Given the description of an element on the screen output the (x, y) to click on. 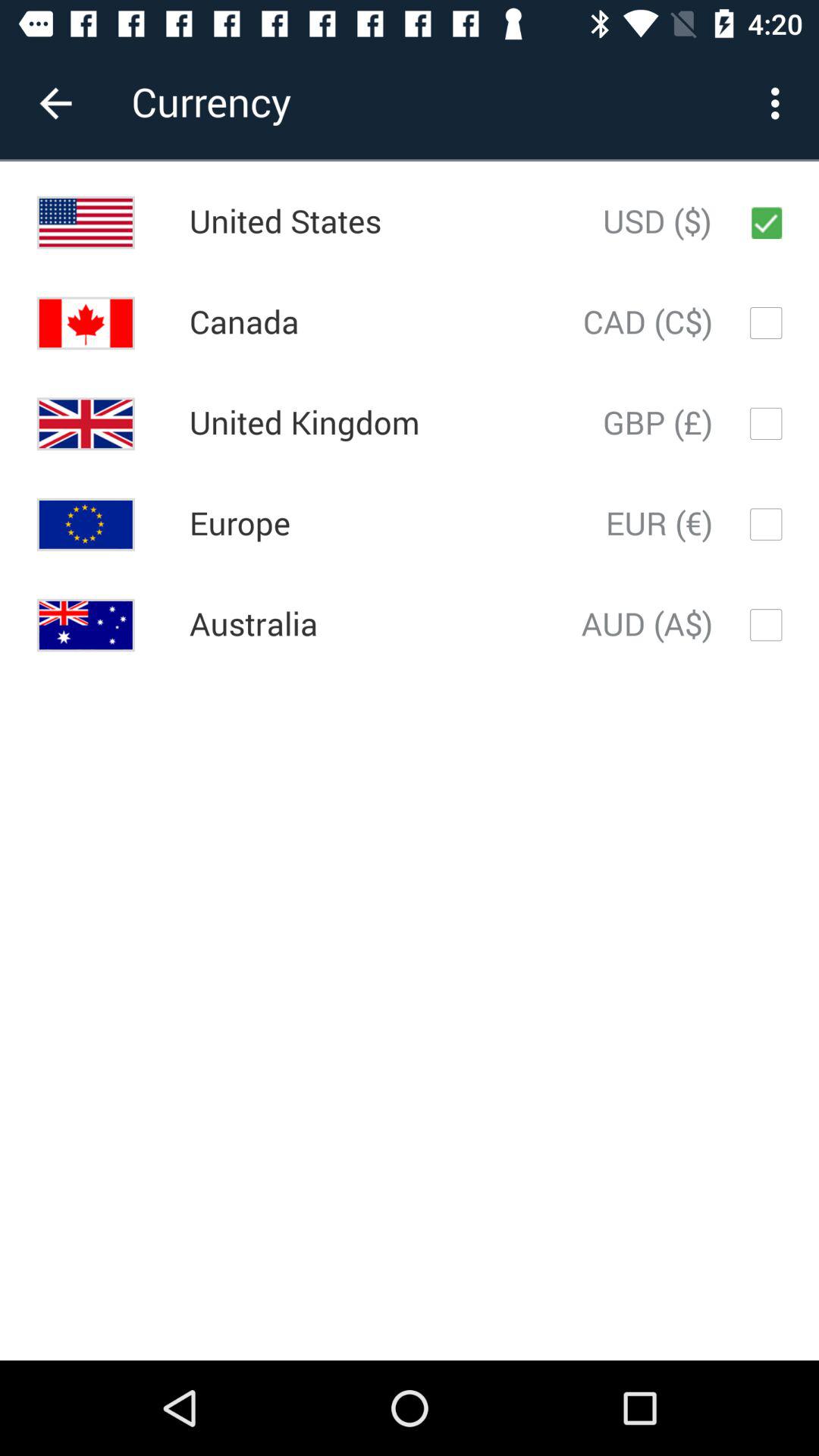
launch the icon to the left of aud (a$) (253, 624)
